Given the description of an element on the screen output the (x, y) to click on. 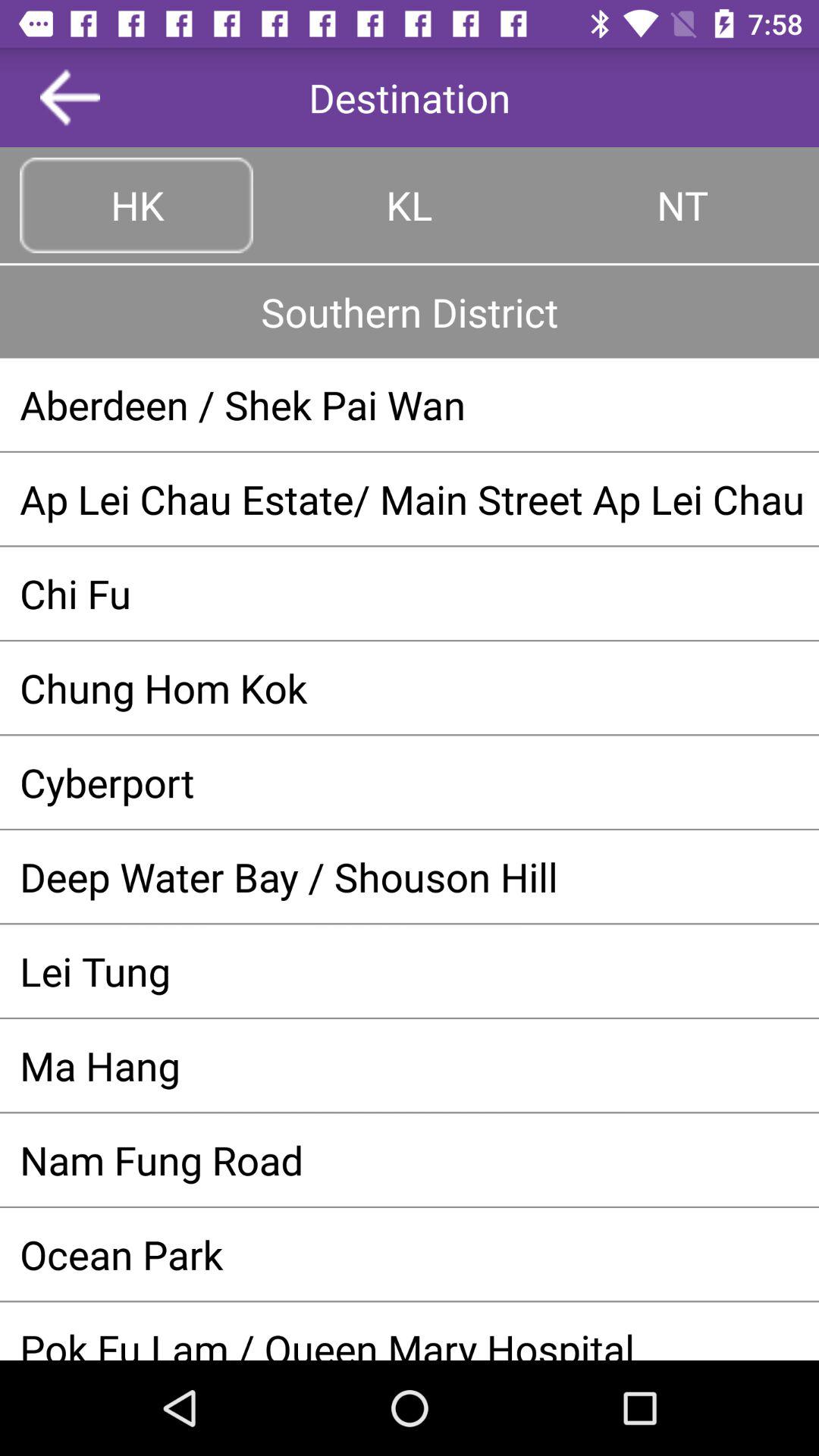
launch deep water bay item (409, 876)
